Given the description of an element on the screen output the (x, y) to click on. 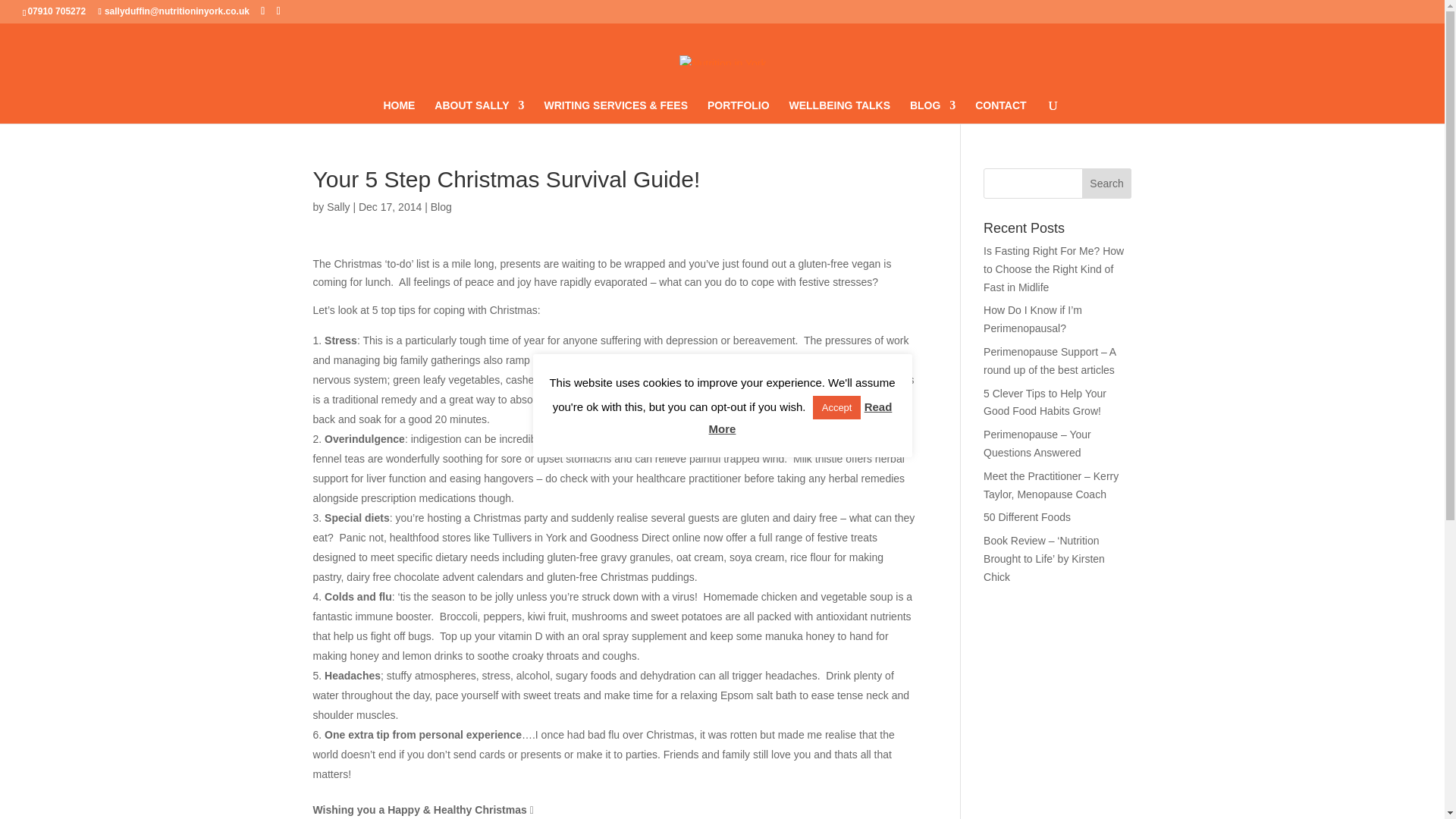
5 Clever Tips to Help Your Good Food Habits Grow! (1045, 402)
Search (1106, 183)
Blog (440, 206)
WELLBEING TALKS (839, 111)
BLOG (932, 111)
CONTACT (1000, 111)
HOME (398, 111)
PORTFOLIO (738, 111)
Search (1106, 183)
ABOUT SALLY (478, 111)
Posts by Sally (337, 206)
Sally (337, 206)
